Given the description of an element on the screen output the (x, y) to click on. 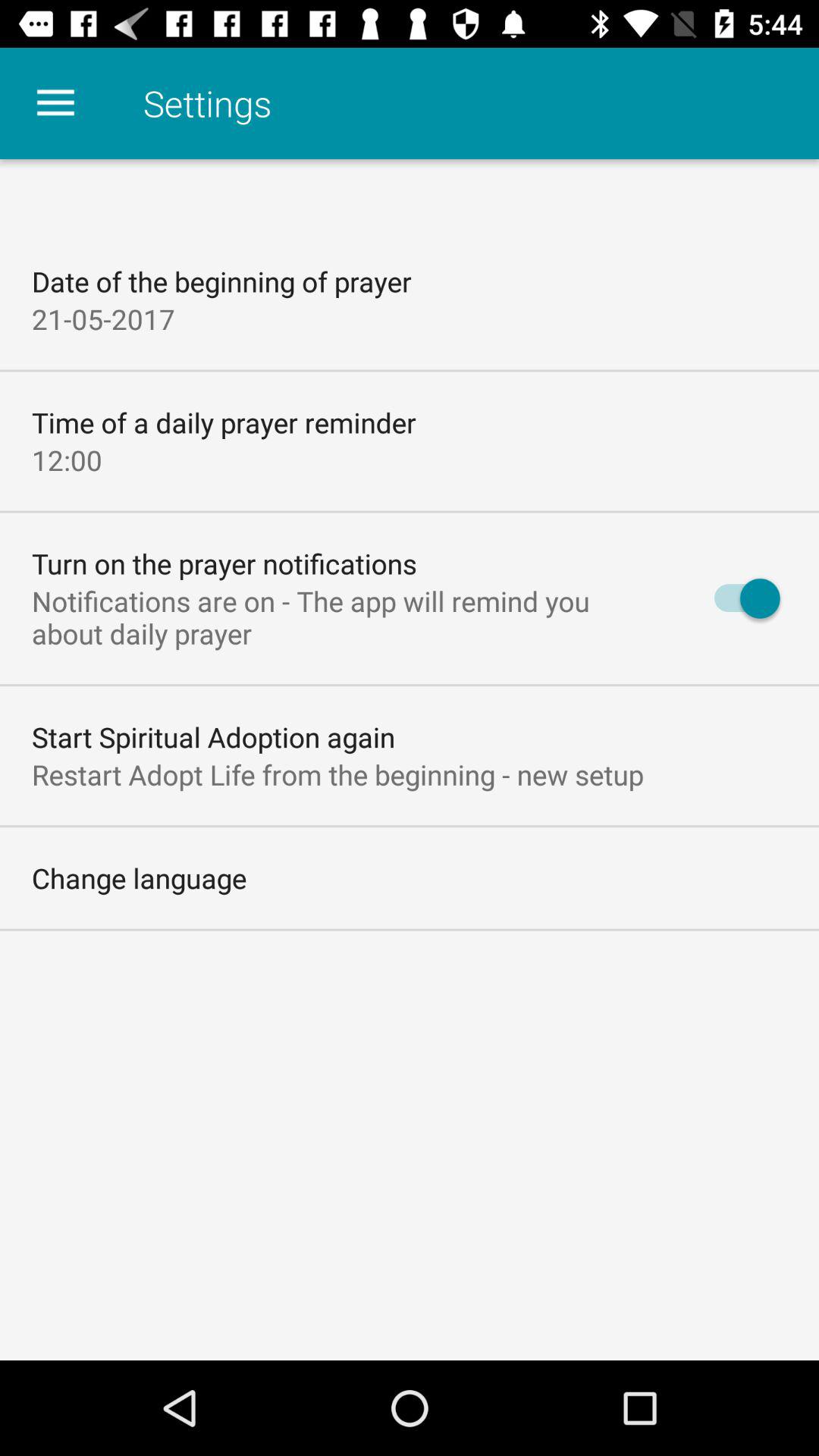
press the 21-05-2017 icon (103, 318)
